Given the description of an element on the screen output the (x, y) to click on. 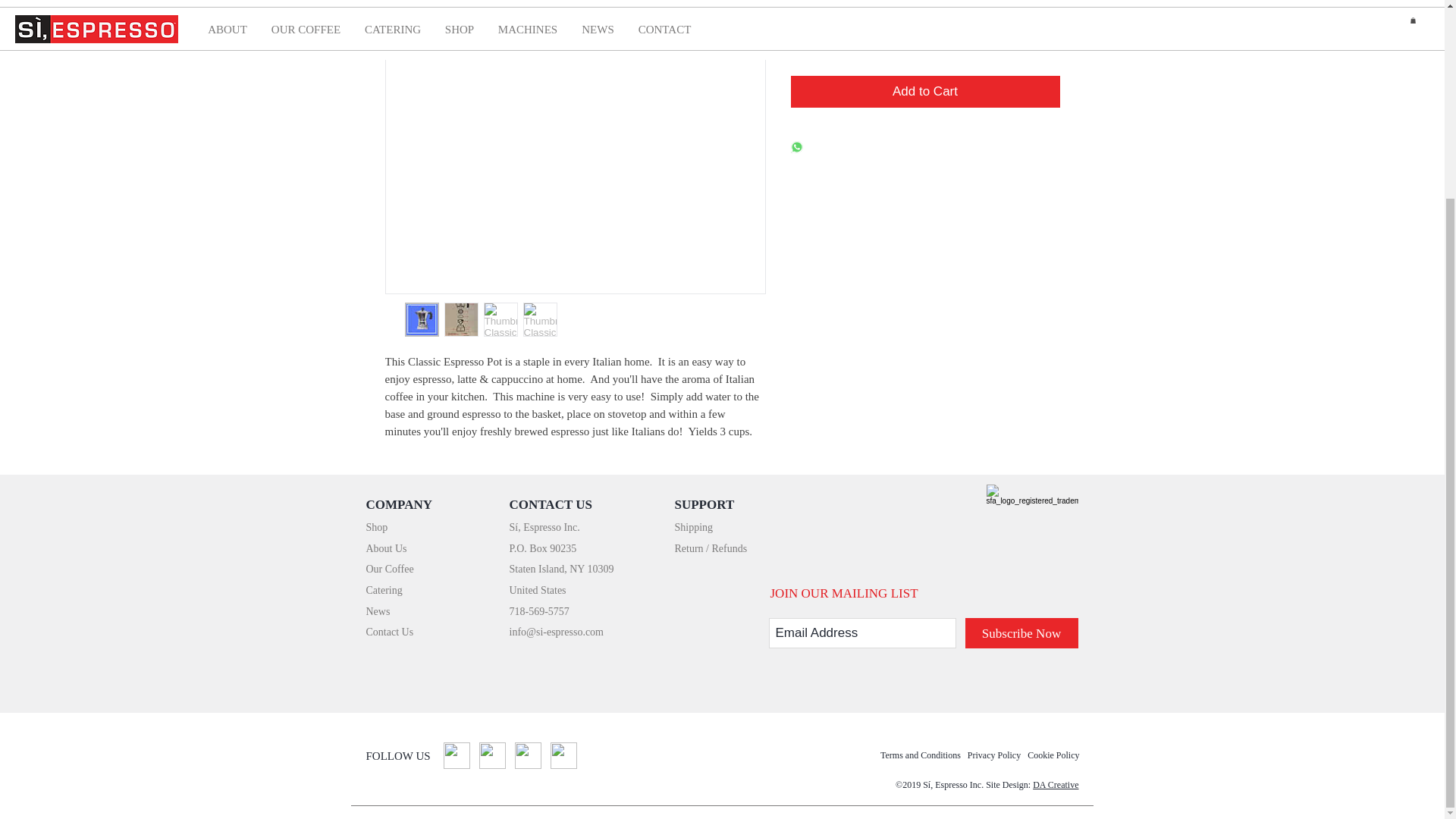
Terms and Conditions (920, 755)
Privacy Policy (994, 755)
Shipping (694, 526)
Add to Cart (924, 91)
Catering (383, 589)
1 (817, 36)
Contact Us (389, 631)
Our Coffee (389, 568)
Cookie Policy (1052, 755)
COMPANY (398, 504)
718-569-5757 (539, 611)
Shop (376, 526)
CONTACT US (550, 504)
Subscribe Now (1020, 633)
News (377, 611)
